Given the description of an element on the screen output the (x, y) to click on. 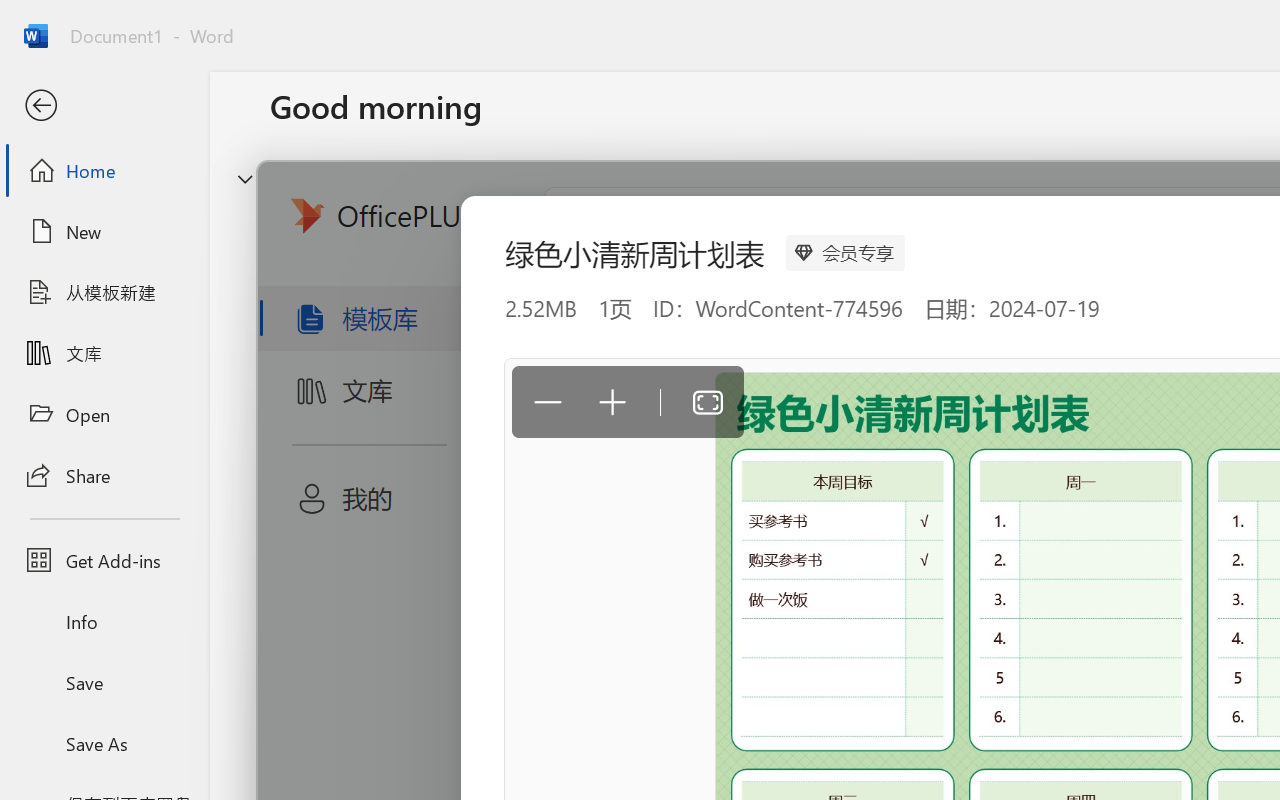
Save As (104, 743)
Get Add-ins (104, 560)
New (104, 231)
Back (104, 106)
Info (104, 621)
